Given the description of an element on the screen output the (x, y) to click on. 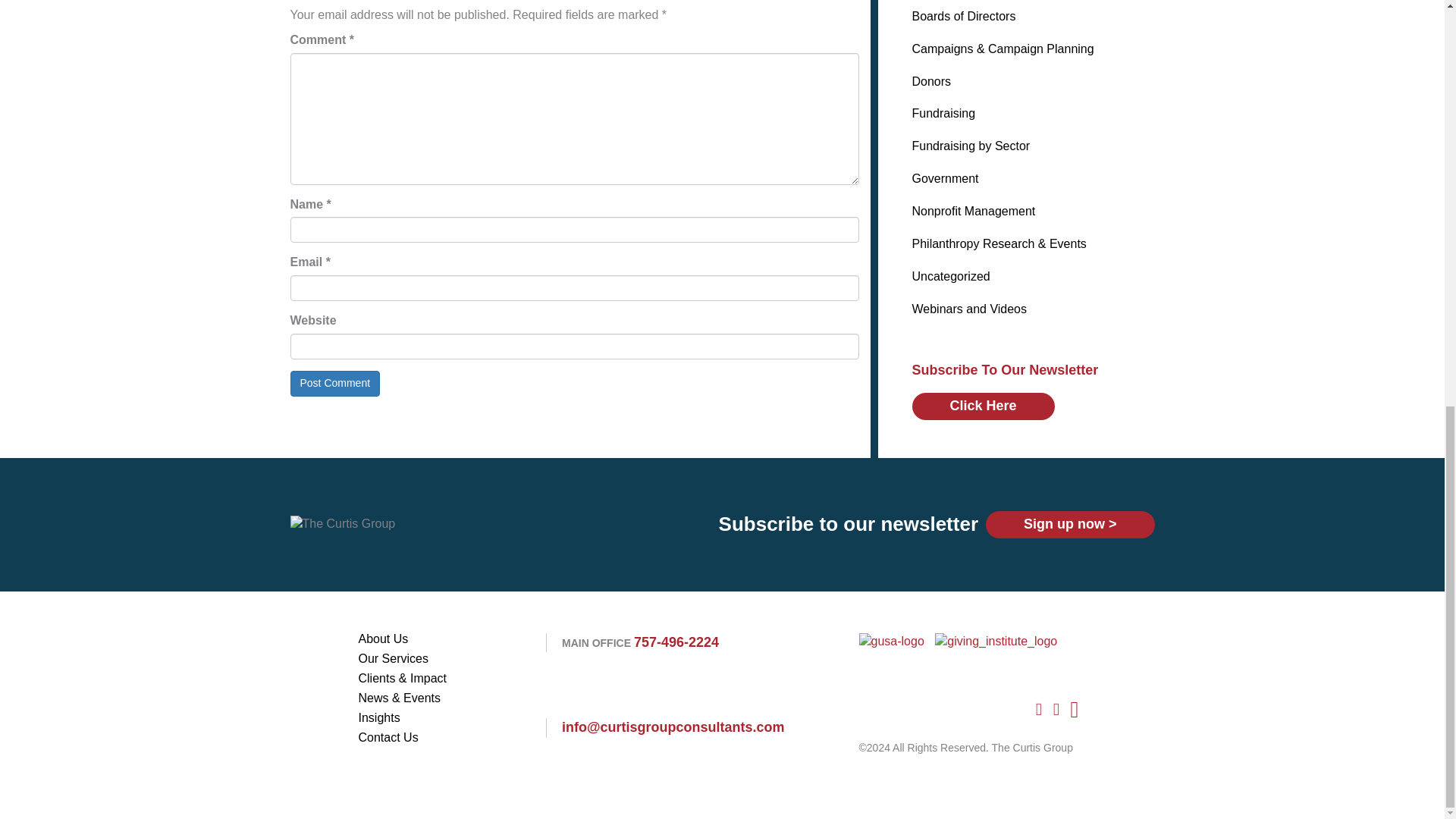
Boards of Directors (962, 15)
Post Comment (334, 383)
Post Comment (334, 383)
